Given the description of an element on the screen output the (x, y) to click on. 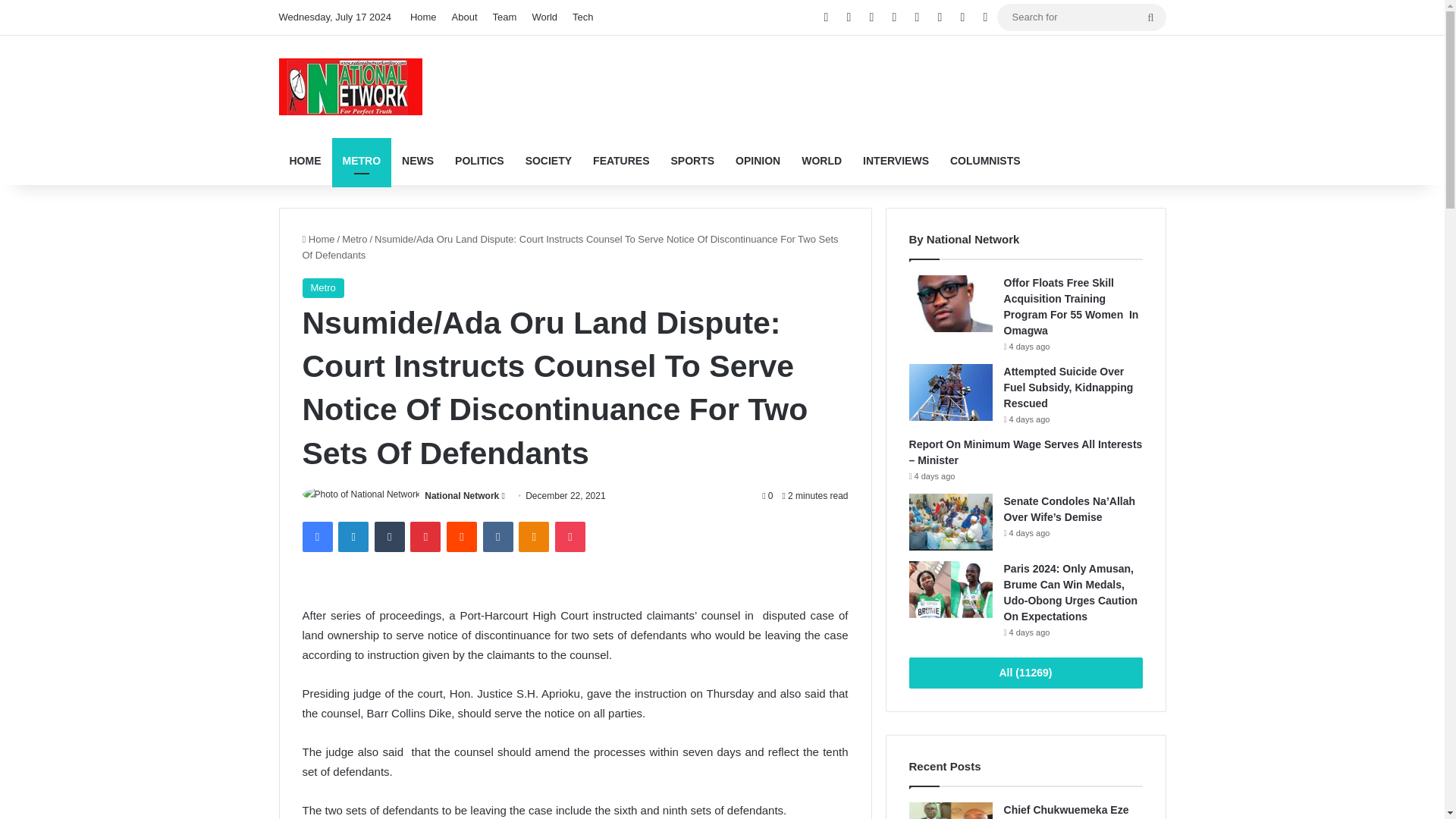
National Network (462, 495)
FEATURES (620, 160)
Tumblr (389, 536)
RSS (916, 17)
COLUMNISTS (984, 160)
METRO (361, 160)
SPORTS (693, 160)
National Network (462, 495)
NEWS (417, 160)
Pinterest (425, 536)
Facebook (825, 17)
INTERVIEWS (895, 160)
Metro (354, 238)
Search for (1080, 16)
POLITICS (479, 160)
